Given the description of an element on the screen output the (x, y) to click on. 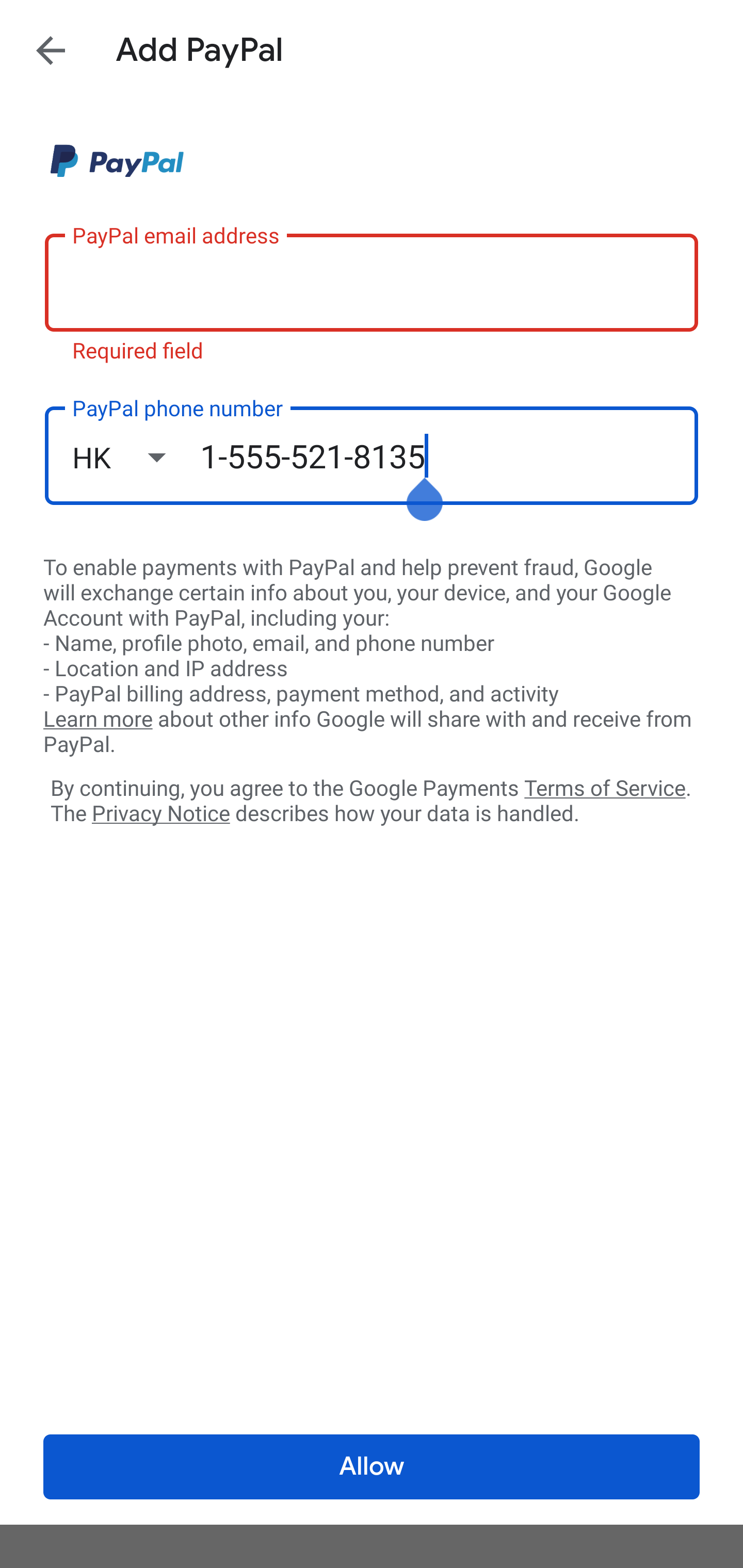
Navigate up (50, 50)
HK (135, 456)
Learn more (97, 719)
Terms of Service (604, 787)
Privacy Notice (160, 814)
Allow (371, 1466)
